Given the description of an element on the screen output the (x, y) to click on. 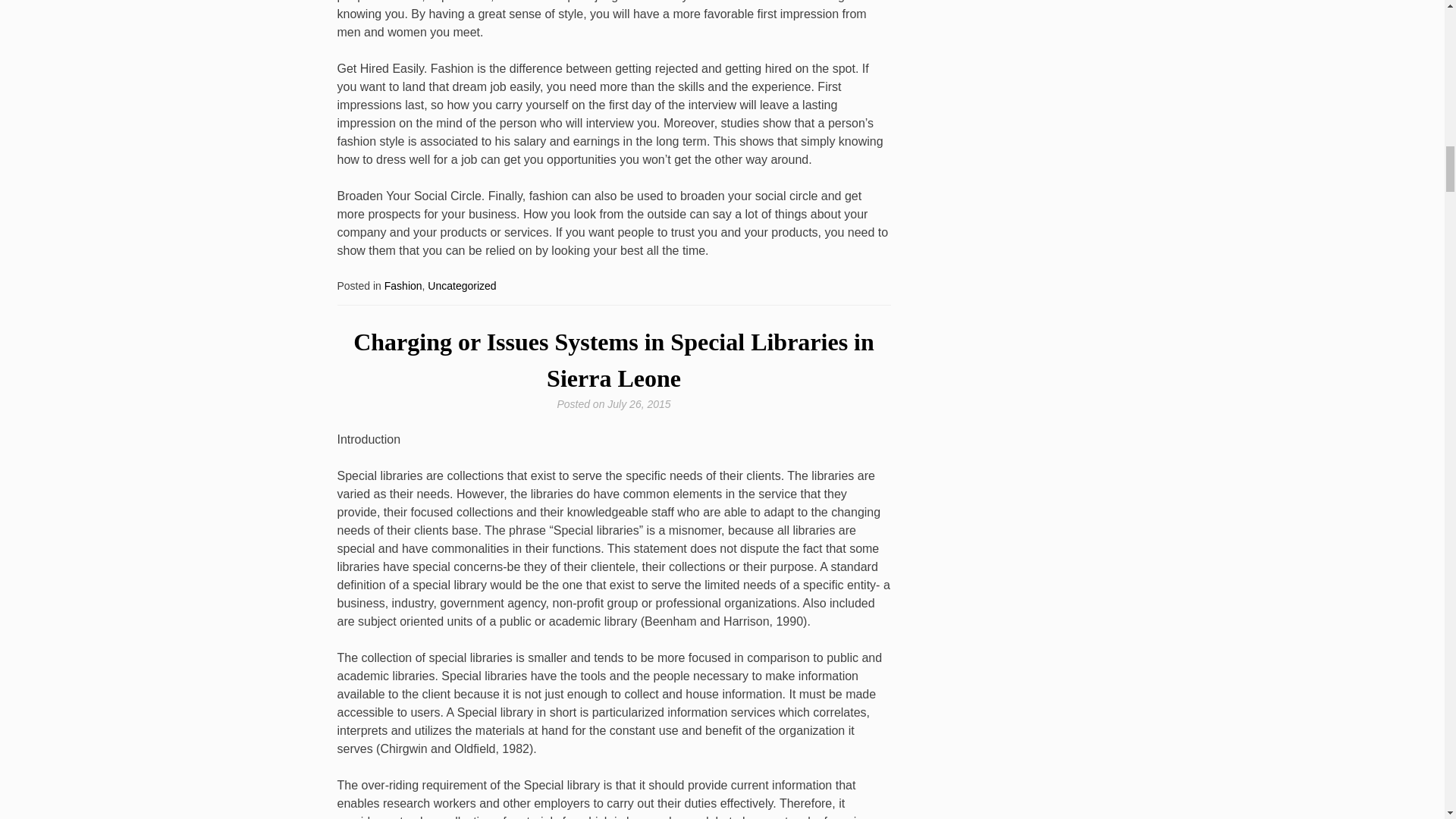
Uncategorized (462, 285)
Fashion (403, 285)
July 26, 2015 (638, 404)
